Given the description of an element on the screen output the (x, y) to click on. 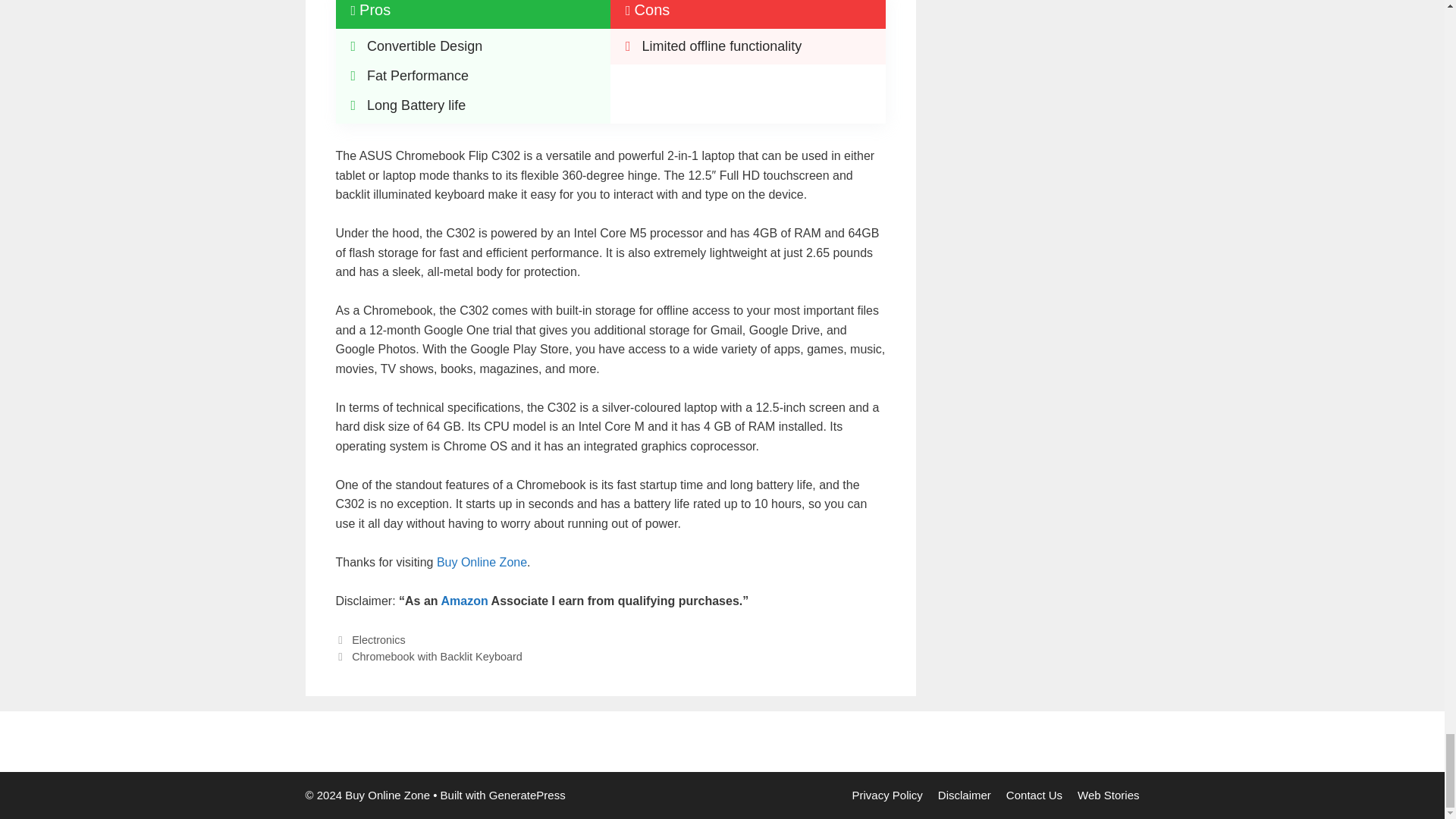
GeneratePress (527, 794)
Amazon (464, 600)
Contact Us (1034, 794)
Privacy Policy (886, 794)
Disclaimer (964, 794)
Buy Online Zone (481, 562)
Chromebook with Backlit Keyboard (437, 656)
Electronics (379, 639)
Web Stories (1107, 794)
